Given the description of an element on the screen output the (x, y) to click on. 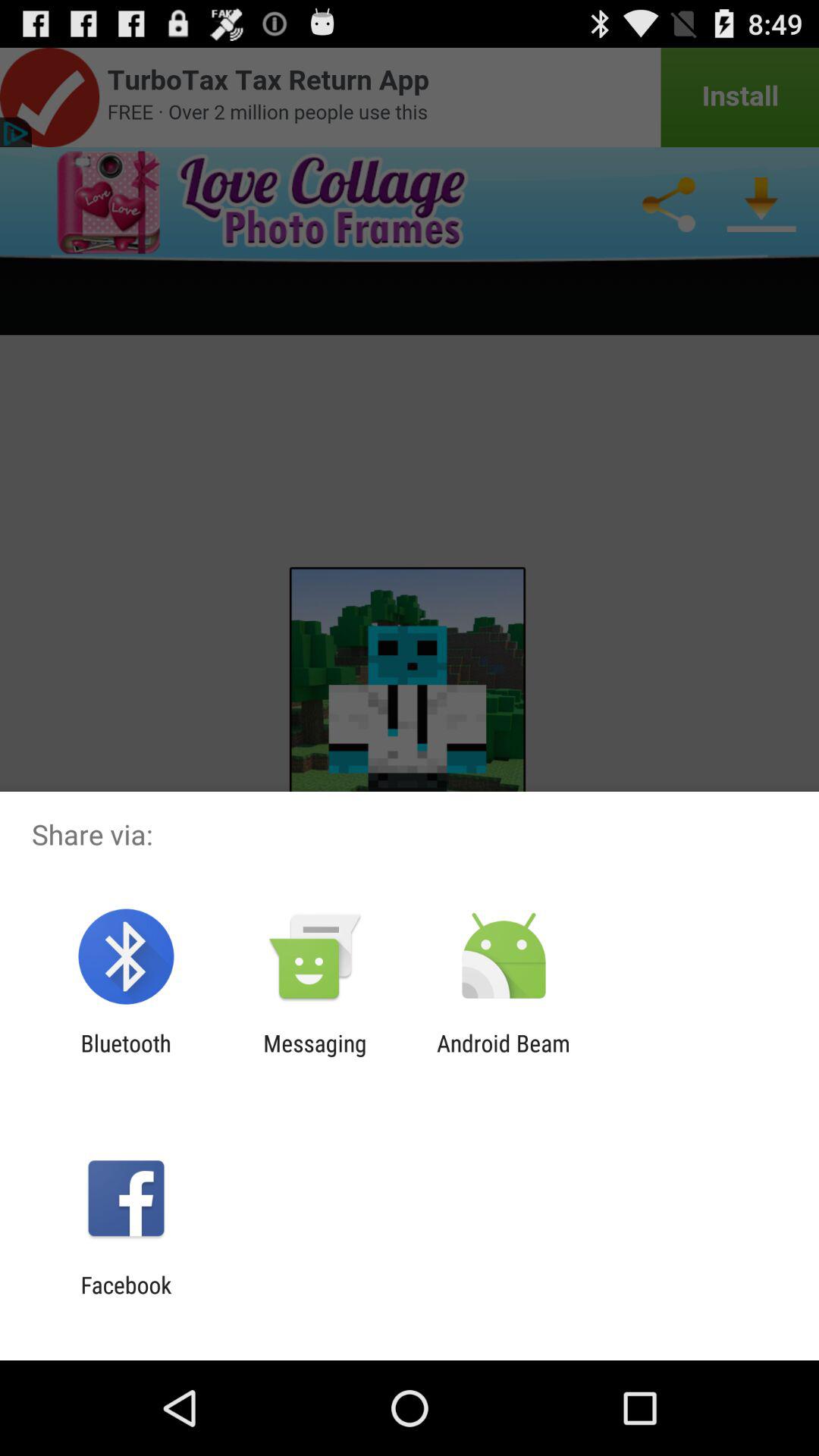
press bluetooth icon (125, 1056)
